Given the description of an element on the screen output the (x, y) to click on. 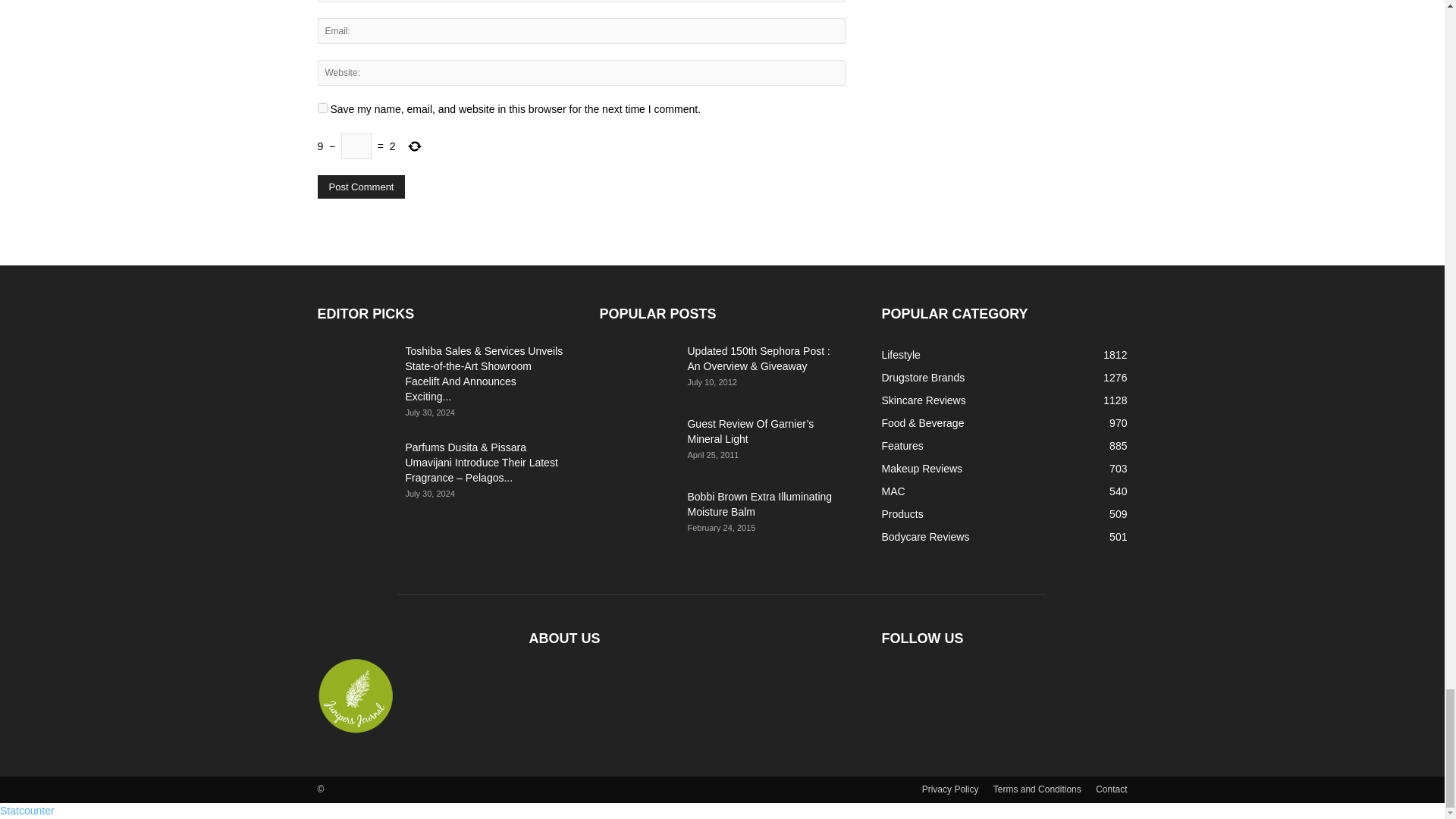
yes (321, 108)
Post Comment (360, 187)
